Given the description of an element on the screen output the (x, y) to click on. 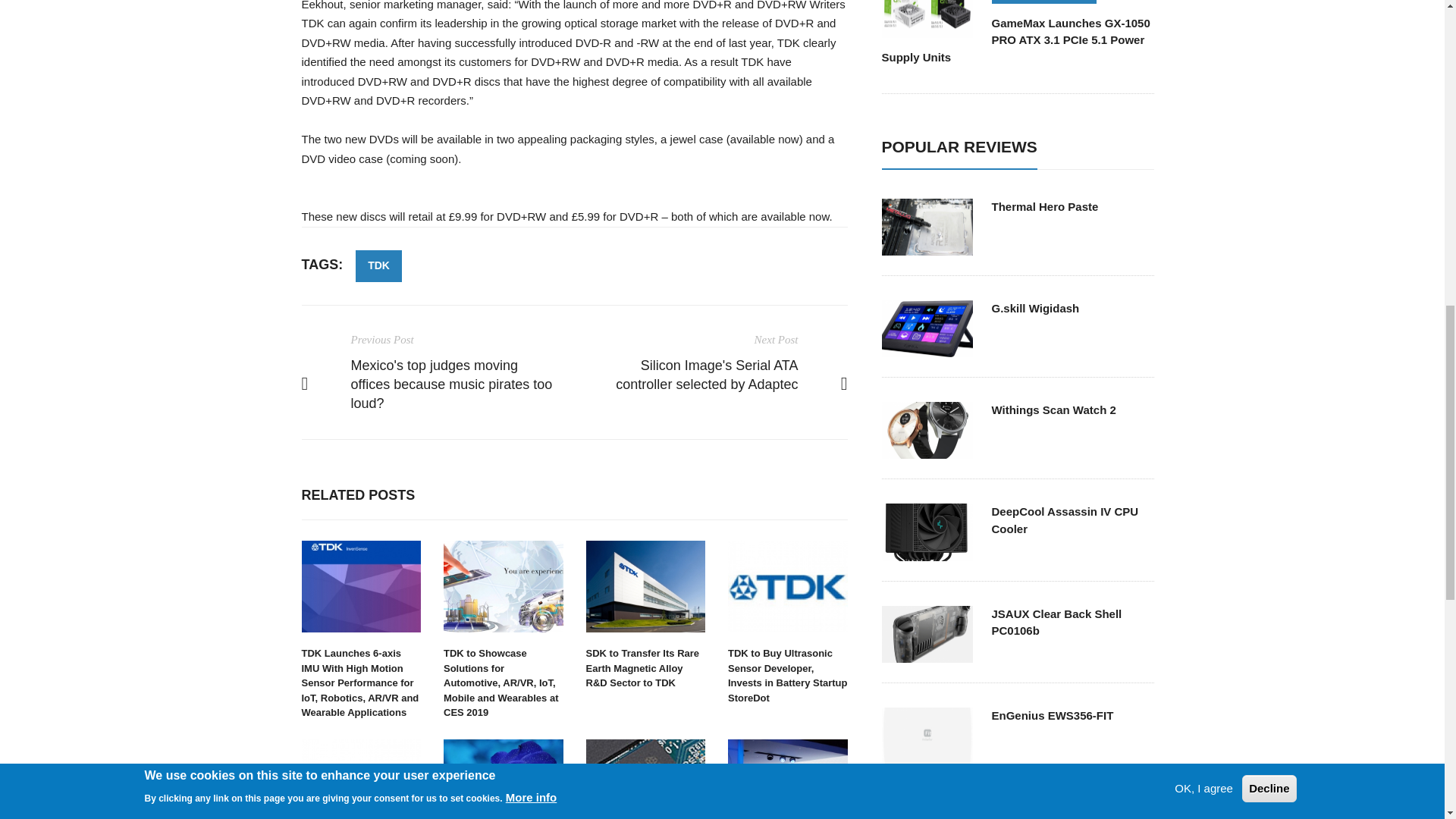
TDK (378, 265)
Silicon Image's Serial ATA controller selected by Adaptec (706, 374)
